Given the description of an element on the screen output the (x, y) to click on. 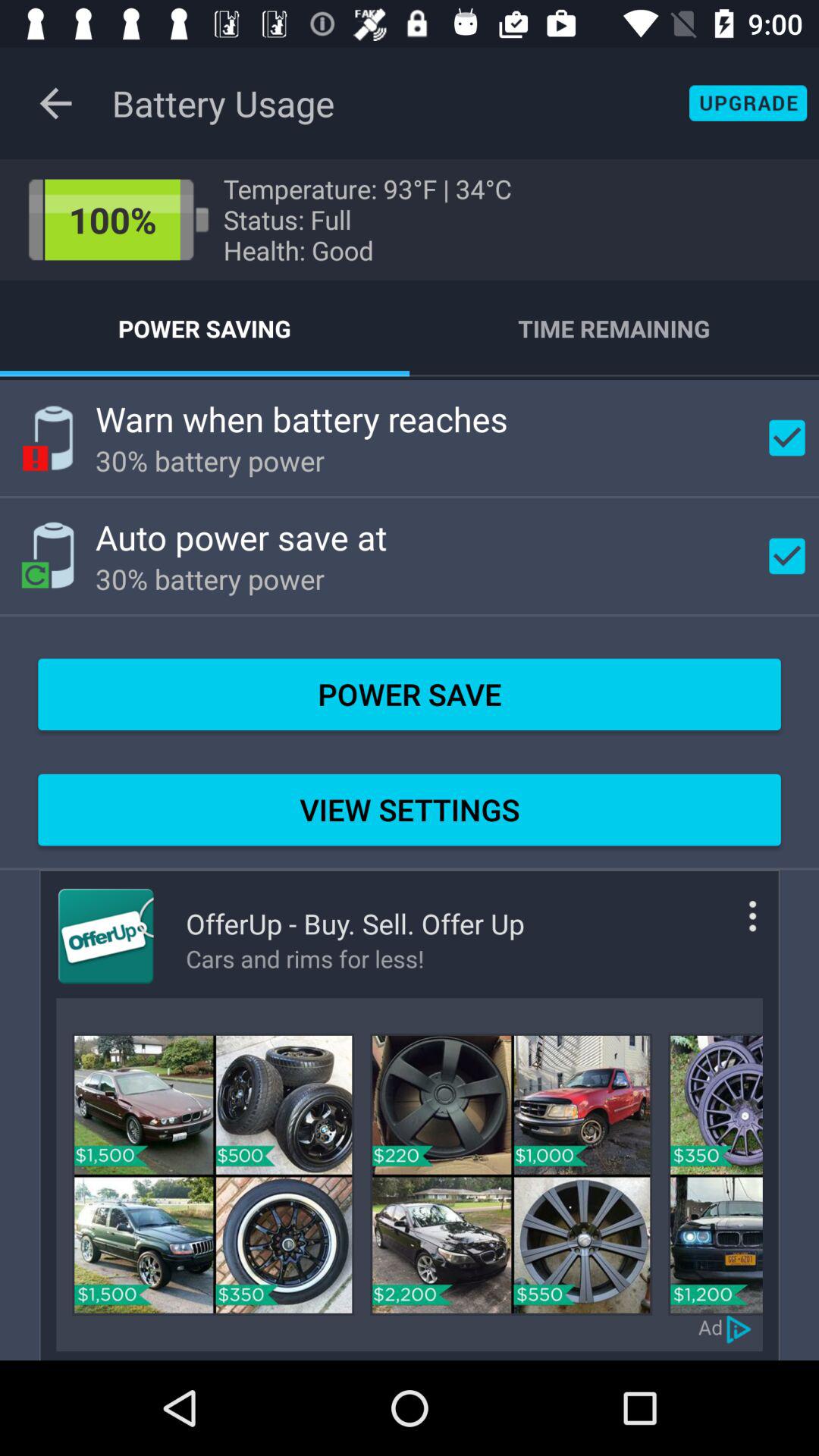
view settings (730, 928)
